Given the description of an element on the screen output the (x, y) to click on. 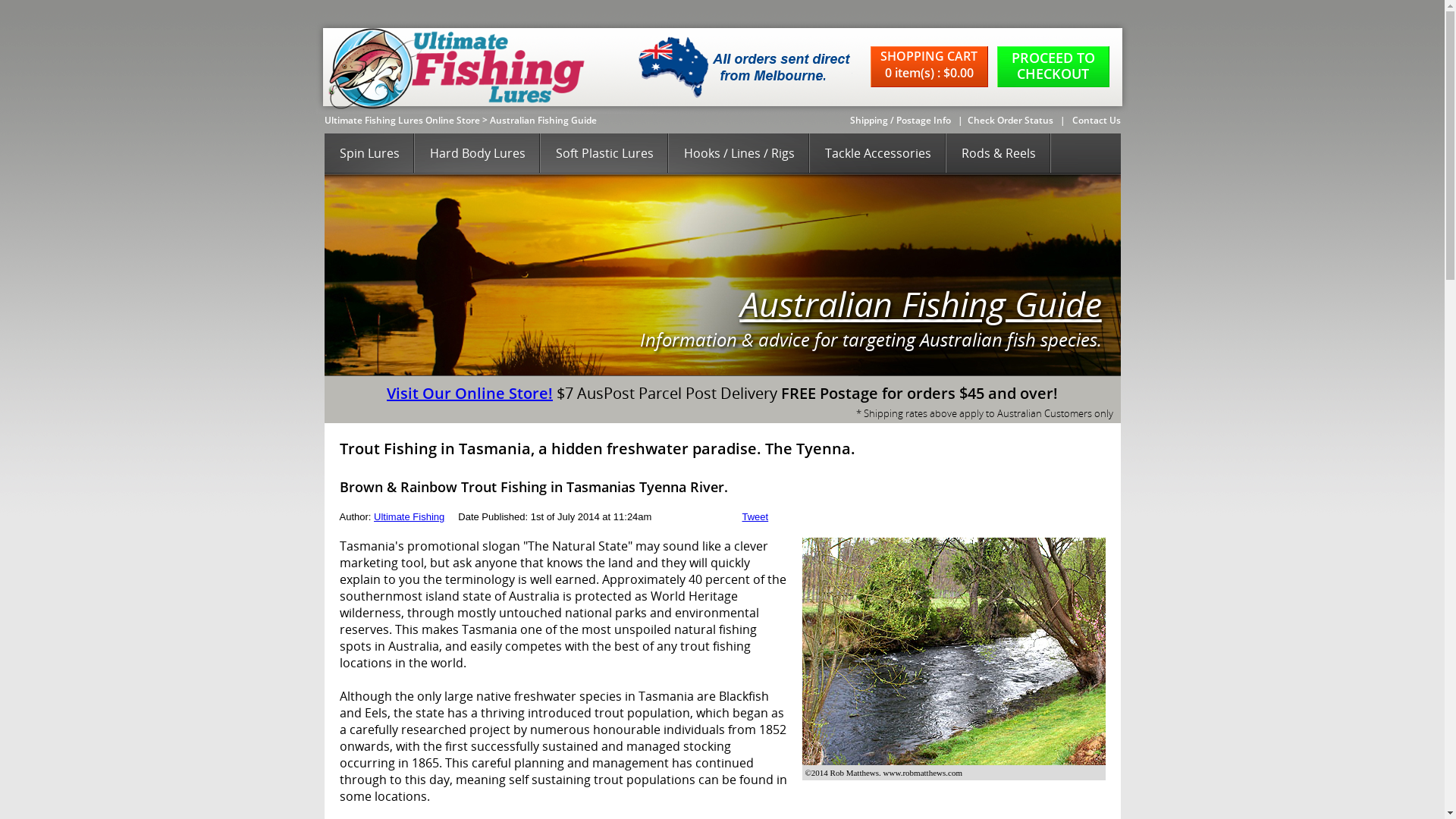
Tackle Accessories Element type: text (877, 153)
Rods & Reels Element type: text (998, 153)
Contact Us Element type: text (1096, 119)
Tweet Element type: text (754, 516)
Hard Body Lures Element type: text (476, 153)
Ultimate Fishing Lures Tackle Online Store Element type: hover (451, 66)
Ultimate Fishing Lures Online Store Element type: text (402, 119)
Australian Fishing Guide Element type: text (542, 119)
Soft Plastic Lures Element type: text (603, 153)
SHOPPING CART
0 item(s) : $0.00 Element type: text (933, 66)
Shipping / Postage Info Element type: text (899, 119)
Spin Lures Element type: text (369, 153)
Australian Fishing Guide Element type: text (920, 303)
Visit Our Online Store! Element type: text (469, 392)
Ultimate Fishing Element type: text (408, 516)
Check Order Status Element type: text (1010, 119)
Hooks / Lines / Rigs Element type: text (738, 153)
PROCEED TO CHECKOUT Element type: text (1052, 66)
